Given the description of an element on the screen output the (x, y) to click on. 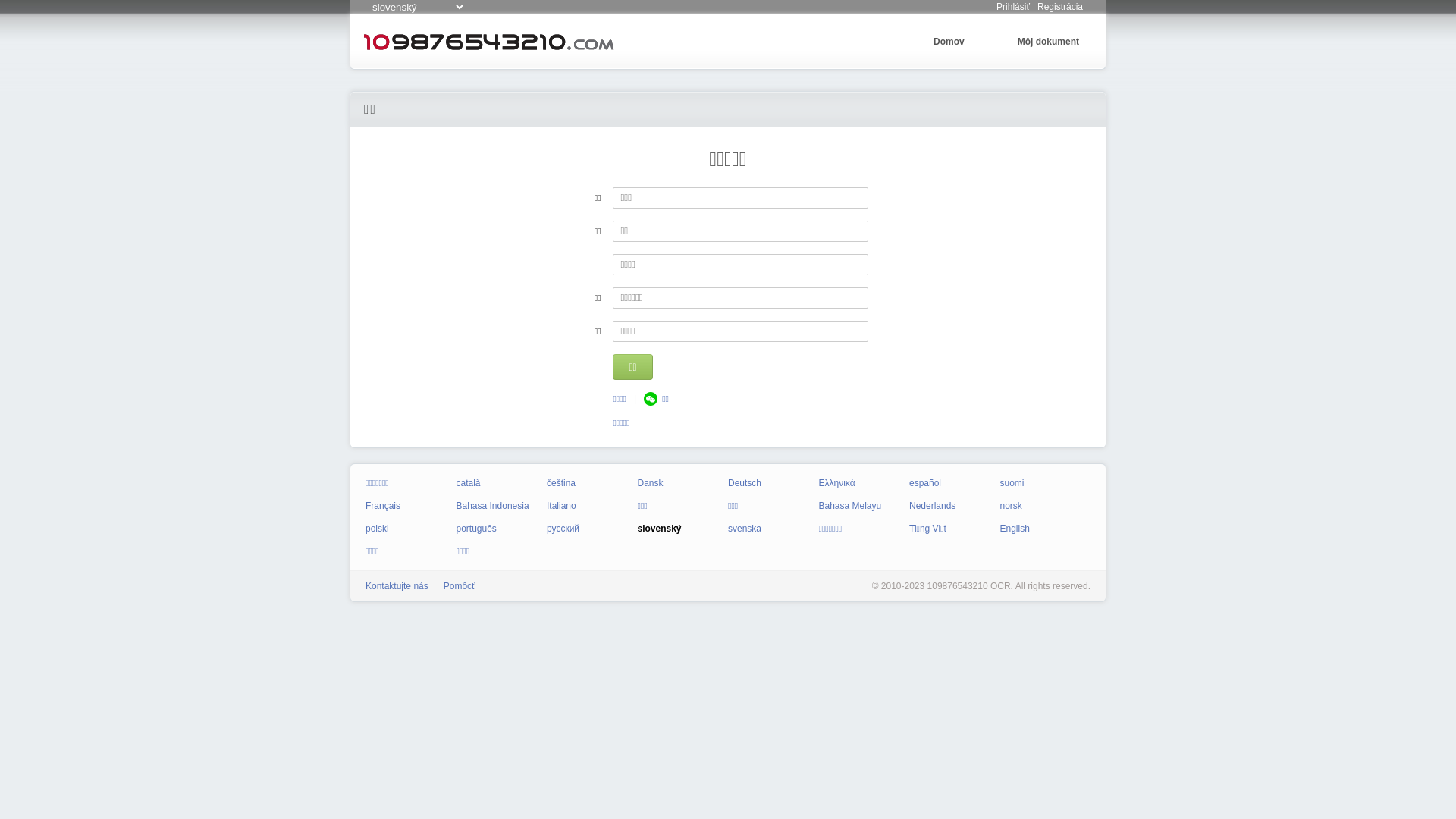
norsk Element type: text (1010, 505)
polski Element type: text (377, 528)
Italiano Element type: text (561, 505)
svenska Element type: text (744, 528)
Bahasa Melayu Element type: text (850, 505)
Nederlands Element type: text (932, 505)
Dansk Element type: text (649, 482)
suomi Element type: text (1011, 482)
Bahasa Indonesia Element type: text (492, 505)
English Element type: text (1014, 528)
Deutsch Element type: text (744, 482)
Domov Element type: text (948, 41)
